Given the description of an element on the screen output the (x, y) to click on. 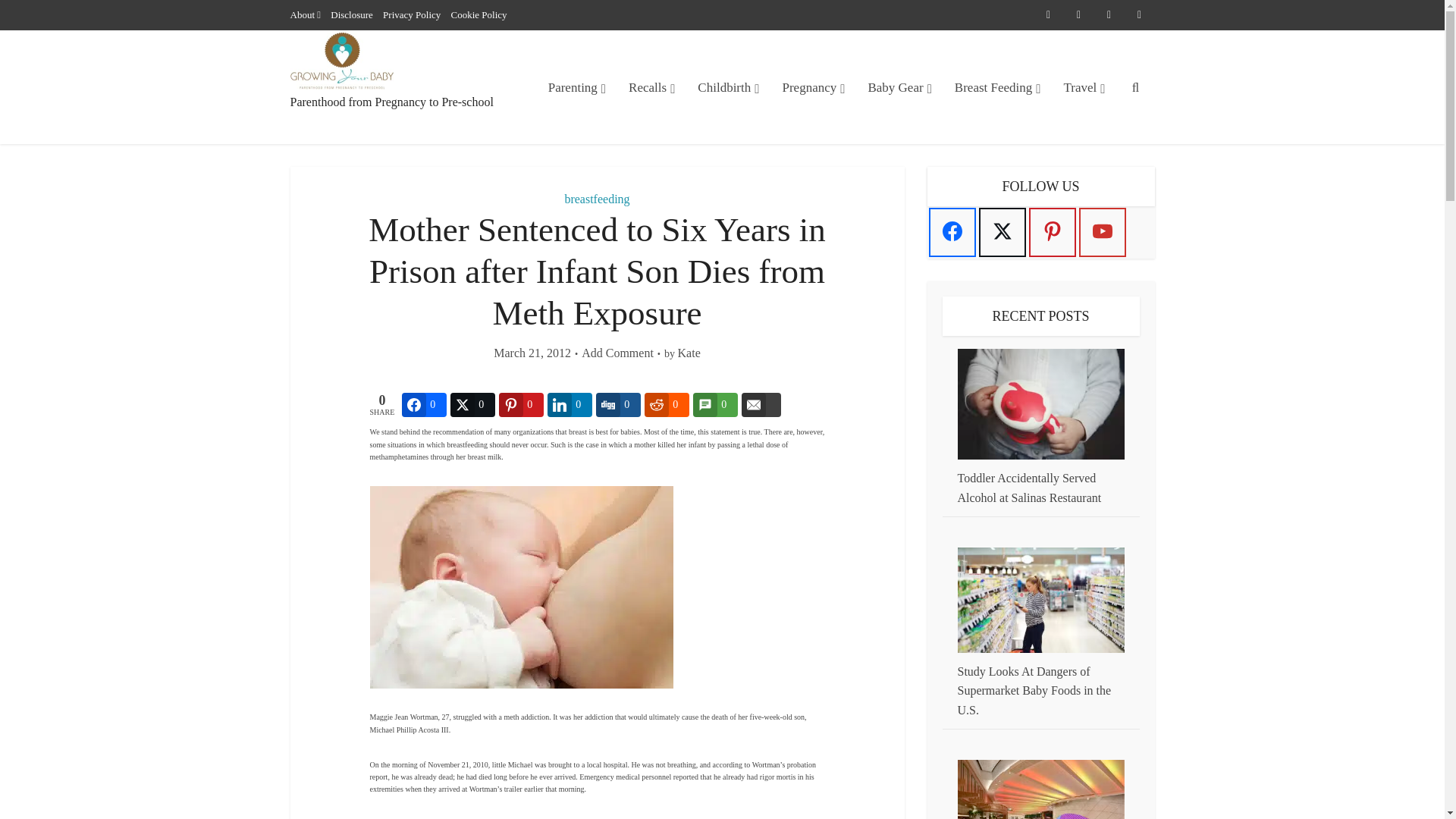
0 (423, 404)
Cookie Policy (478, 14)
0 (666, 404)
Kate (689, 353)
Share on Twitter (472, 404)
Disclosure (351, 14)
0 (521, 404)
Share on Email (760, 404)
breastfeeding (596, 198)
0 (569, 404)
